Given the description of an element on the screen output the (x, y) to click on. 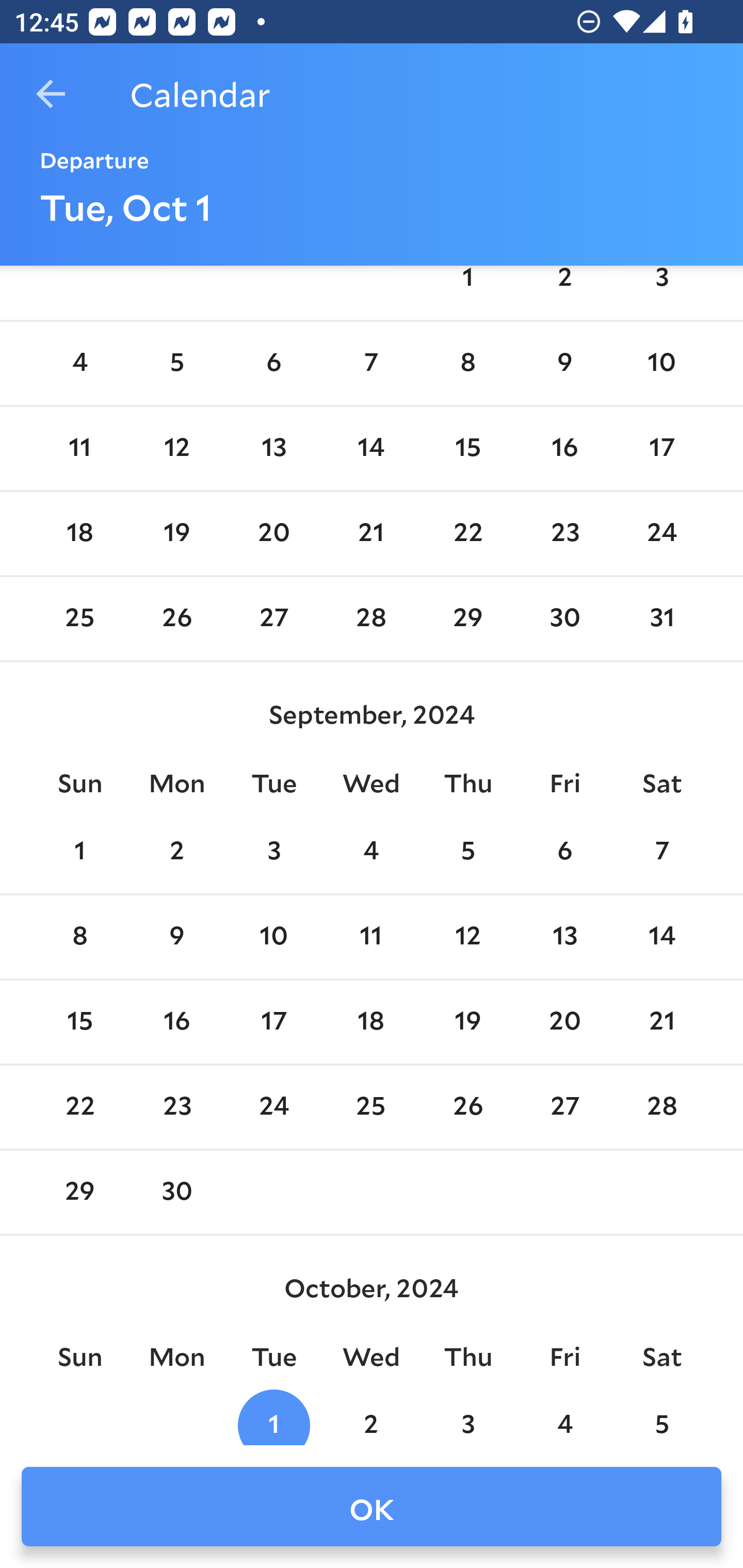
Navigate up (50, 93)
1 (467, 289)
2 (565, 289)
3 (661, 289)
4 (79, 363)
5 (177, 363)
6 (273, 363)
7 (371, 363)
8 (467, 363)
9 (565, 363)
10 (661, 363)
11 (79, 448)
12 (177, 448)
13 (273, 448)
14 (371, 448)
15 (467, 448)
16 (565, 448)
17 (661, 448)
18 (79, 533)
19 (177, 533)
20 (273, 533)
21 (371, 533)
22 (467, 533)
23 (565, 533)
24 (661, 533)
25 (79, 619)
26 (177, 619)
27 (273, 619)
28 (371, 619)
29 (467, 619)
30 (565, 619)
31 (661, 619)
1 (79, 851)
2 (177, 851)
3 (273, 851)
4 (371, 851)
5 (467, 851)
6 (565, 851)
7 (661, 851)
8 (79, 937)
9 (177, 937)
10 (273, 937)
11 (371, 937)
12 (467, 937)
13 (565, 937)
14 (661, 937)
15 (79, 1022)
16 (177, 1022)
17 (273, 1022)
18 (371, 1022)
19 (467, 1022)
20 (565, 1022)
21 (661, 1022)
22 (79, 1106)
23 (177, 1106)
24 (273, 1106)
25 (371, 1106)
26 (467, 1106)
27 (565, 1106)
28 (661, 1106)
29 (79, 1193)
30 (177, 1193)
1 (273, 1417)
2 (371, 1417)
3 (467, 1417)
4 (565, 1417)
5 (661, 1417)
OK (371, 1506)
